Given the description of an element on the screen output the (x, y) to click on. 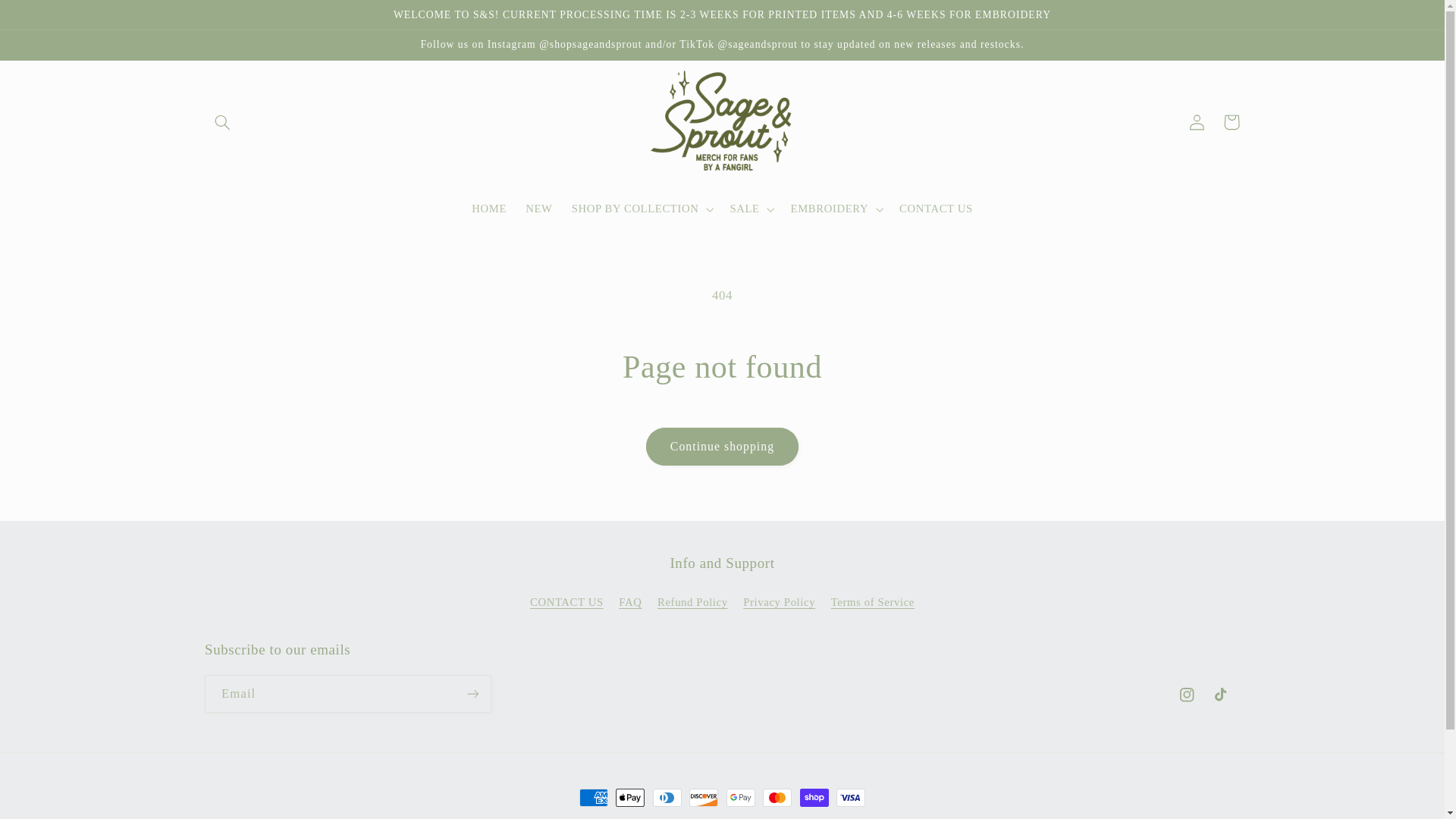
Skip to content (48, 18)
HOME (489, 209)
NEW (539, 209)
